Given the description of an element on the screen output the (x, y) to click on. 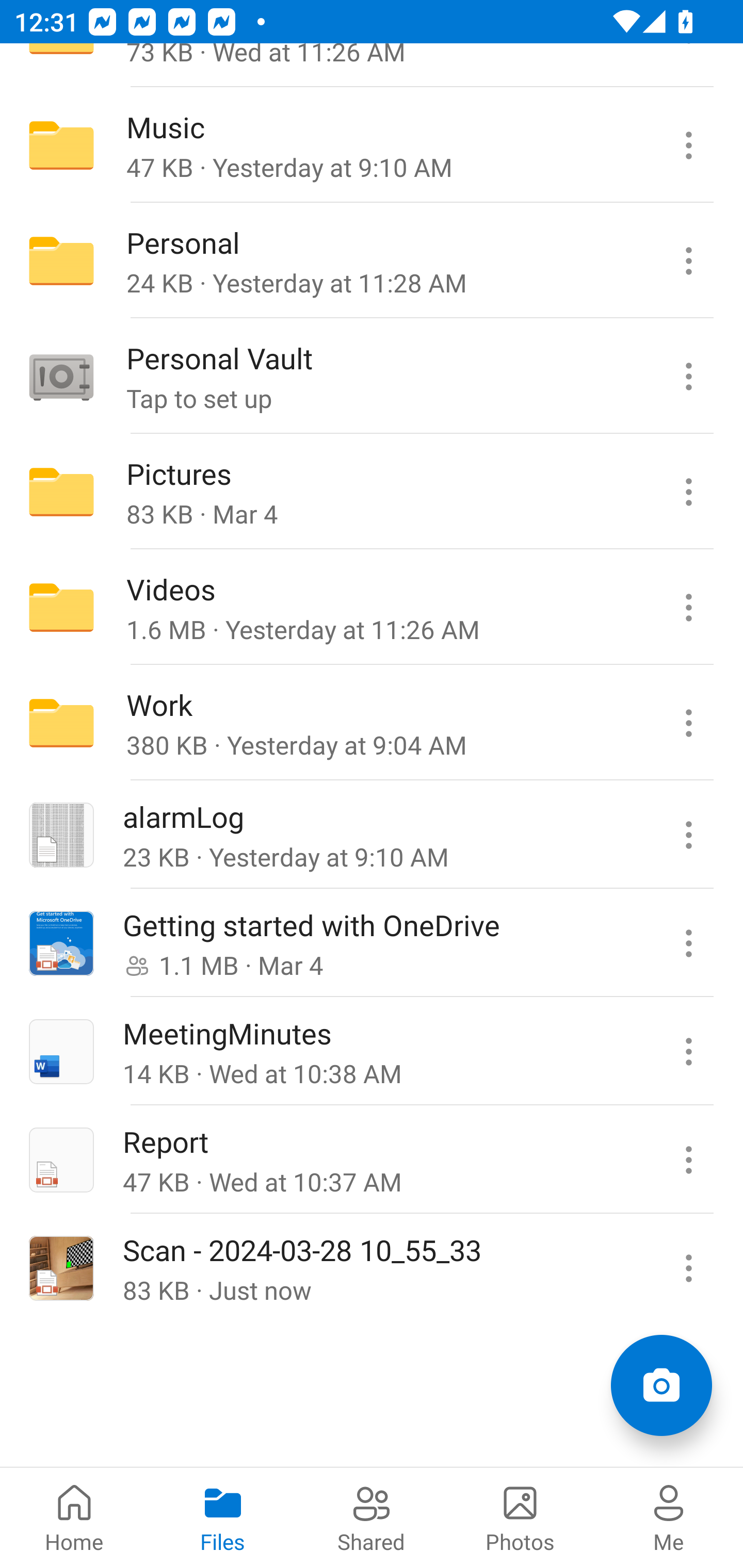
Music commands (688, 145)
Personal commands (688, 260)
Personal Vault commands (688, 376)
Folder Pictures 83 KB · Mar 4 Pictures commands (371, 492)
Pictures commands (688, 492)
Videos commands (688, 607)
Work commands (688, 722)
alarmLog commands (688, 834)
Getting started with OneDrive commands (688, 943)
MeetingMinutes commands (688, 1051)
Report commands (688, 1159)
Scan - 2024-03-28 10_55_33 commands (688, 1267)
Add items Scan (660, 1385)
Home pivot Home (74, 1517)
Shared pivot Shared (371, 1517)
Photos pivot Photos (519, 1517)
Me pivot Me (668, 1517)
